Given the description of an element on the screen output the (x, y) to click on. 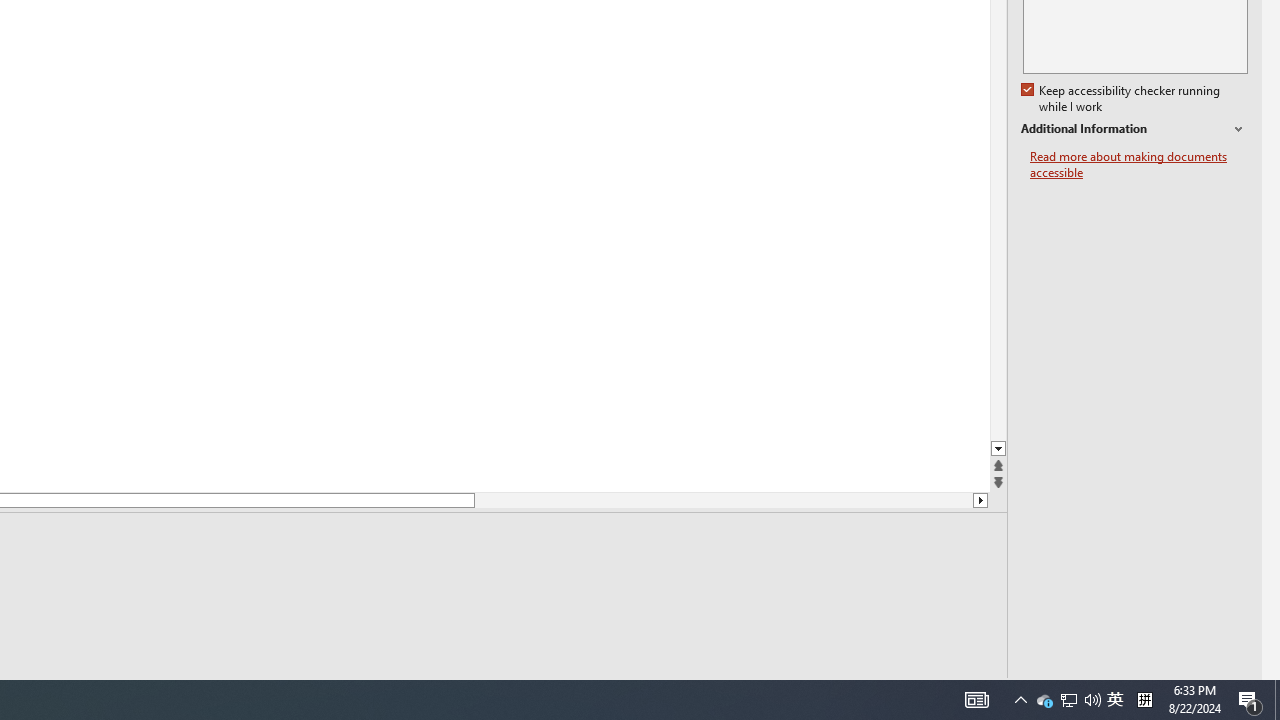
Zoom Out (1159, 691)
Normal (970, 691)
Menu On (892, 691)
Keep accessibility checker running while I work (1122, 99)
Line down (980, 500)
Zoom (1180, 691)
Read more about making documents accessible (1139, 164)
Slide Show Previous On (860, 691)
Additional Information (1134, 129)
Slide Show Next On (924, 691)
Slide Sorter (1010, 691)
Page down (723, 500)
Zoom In (1239, 691)
Reading View (1050, 691)
